Given the description of an element on the screen output the (x, y) to click on. 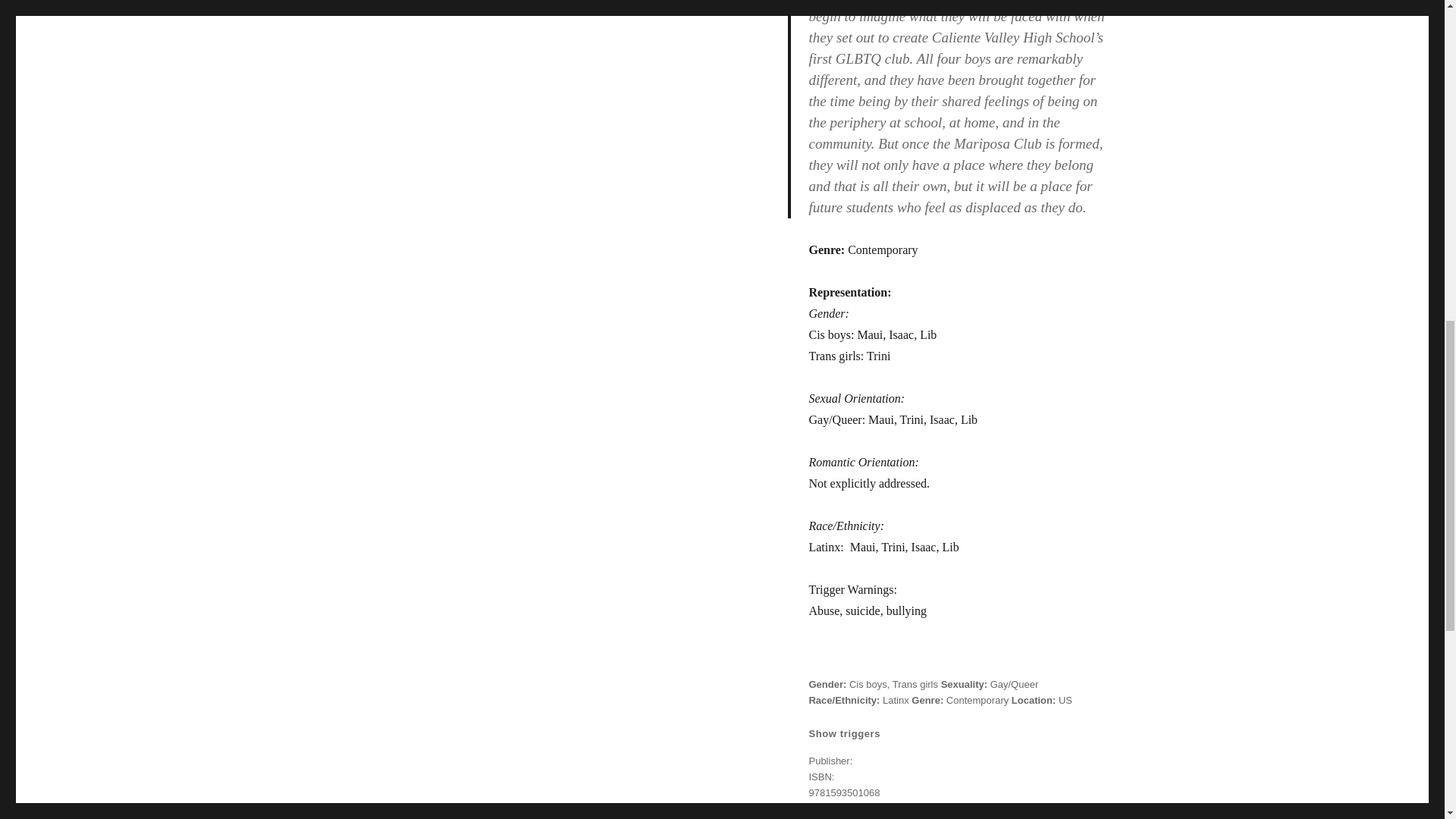
Show triggers (844, 734)
Cis boys (867, 684)
Trans girls (914, 684)
Latinx (895, 699)
Contemporary (977, 699)
US (1064, 699)
